Given the description of an element on the screen output the (x, y) to click on. 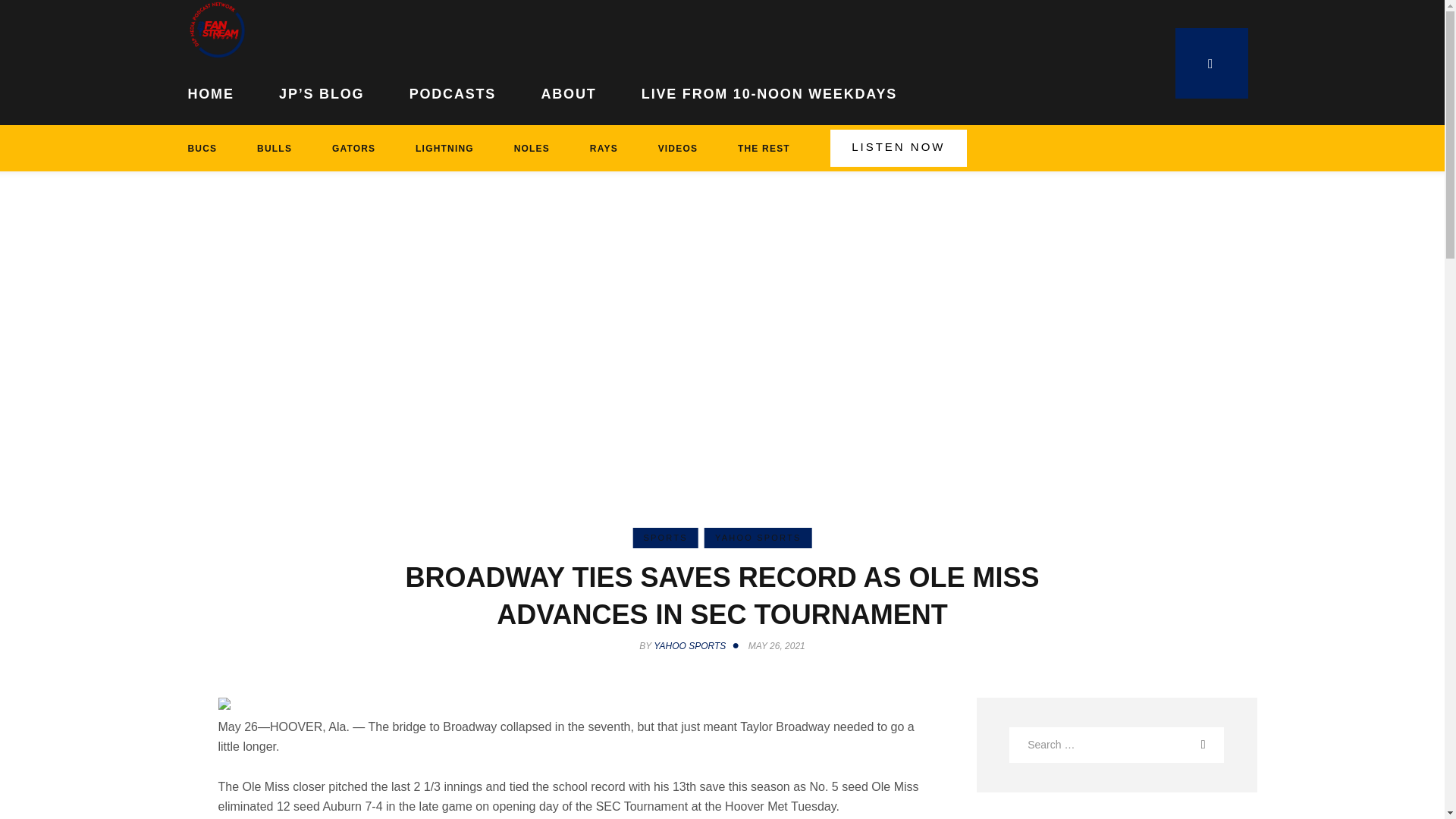
BUCS (212, 147)
VIDEOS (677, 147)
LIGHTNING (445, 147)
PODCASTS (452, 91)
ABOUT (568, 91)
BY YAHOO SPORTS (692, 645)
RAYS (603, 147)
BULLS (275, 147)
NOLES (531, 147)
LISTEN NOW (897, 148)
HOME (222, 91)
GATORS (352, 147)
SPORTS (664, 537)
THE REST (763, 147)
LIVE FROM 10-NOON WEEKDAYS (769, 91)
